Given the description of an element on the screen output the (x, y) to click on. 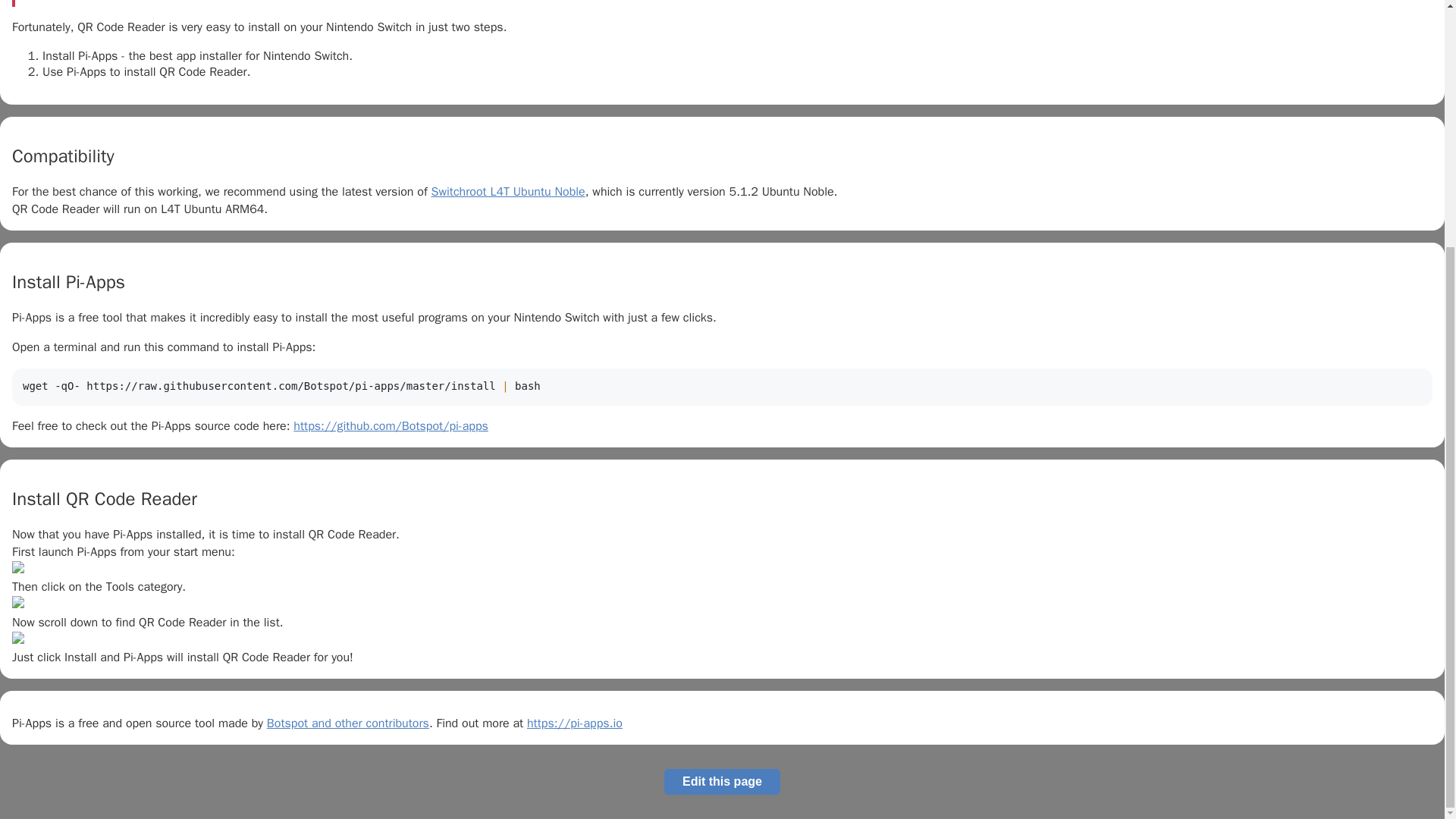
Botspot and other contributors (347, 723)
Edit this page (721, 781)
Switchroot L4T Ubuntu Noble (507, 191)
